Given the description of an element on the screen output the (x, y) to click on. 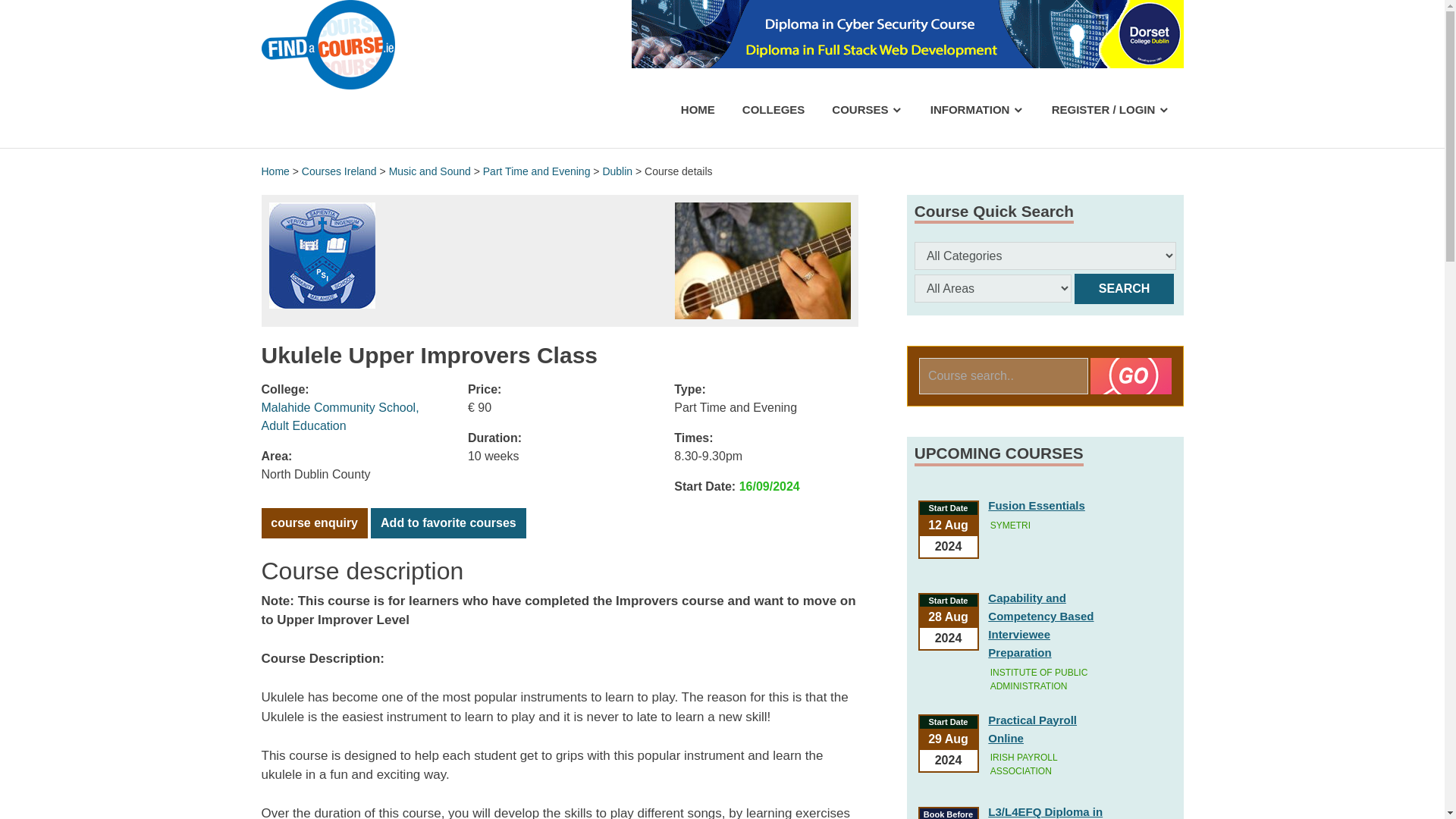
COLLEGES (773, 109)
COURSES (866, 109)
Dublin (616, 171)
Courses Ireland (339, 171)
Malahide Community School, Adult Education (339, 415)
Home (274, 171)
Music and Sound (429, 171)
Add to favorite courses (448, 522)
Part Time and Evening (537, 171)
INFORMATION (977, 109)
HOME (697, 109)
course enquiry (313, 522)
